Given the description of an element on the screen output the (x, y) to click on. 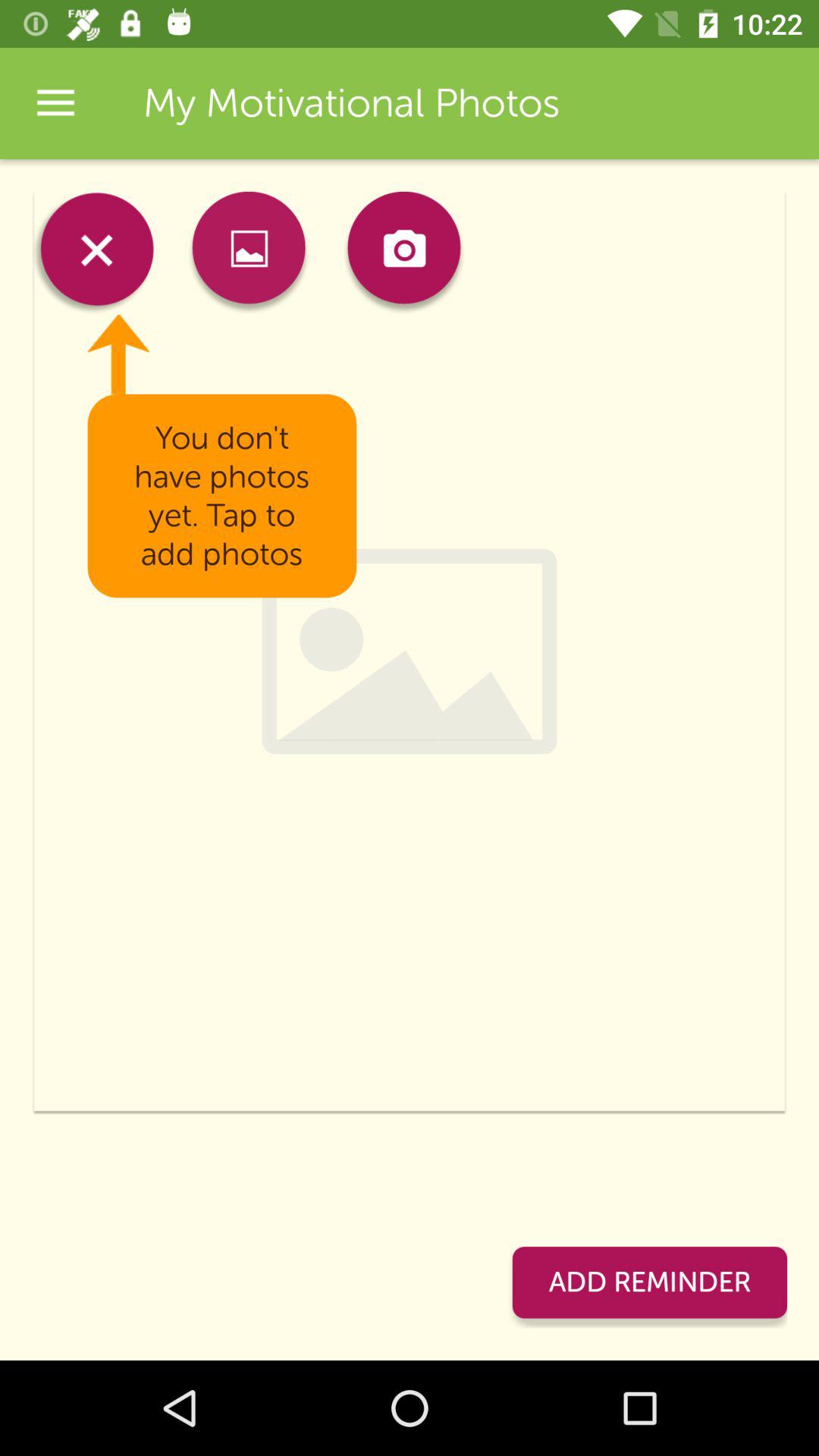
click item above the you don t item (248, 252)
